Given the description of an element on the screen output the (x, y) to click on. 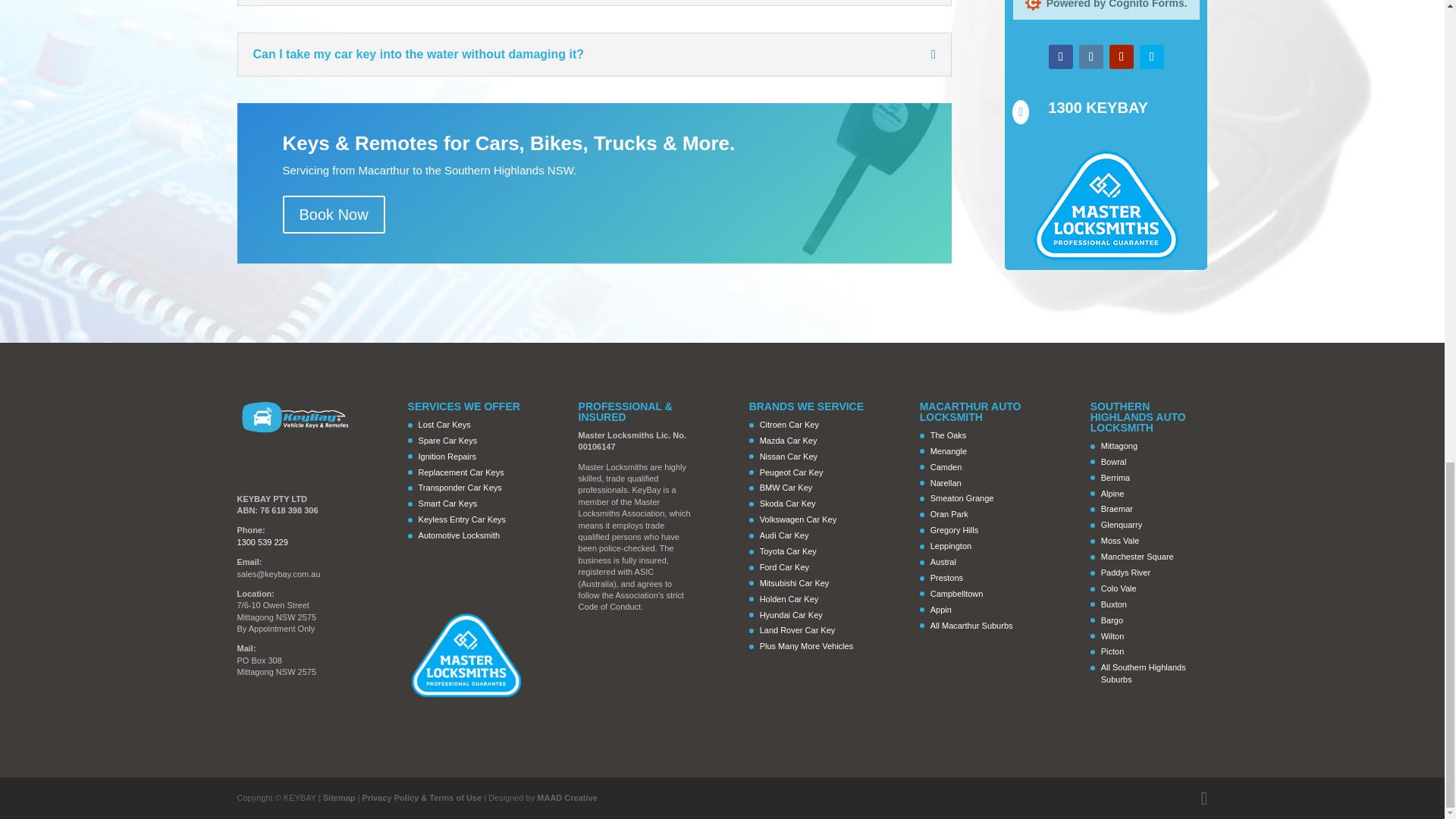
Follow on Twitter (1151, 56)
Follow on Facebook (1060, 56)
Follow on Youtube (1121, 56)
Book Now (333, 214)
Powered by Cognito Forms. (1106, 4)
Follow on Instagram (1090, 56)
automotive locksmith (1106, 205)
